Given the description of an element on the screen output the (x, y) to click on. 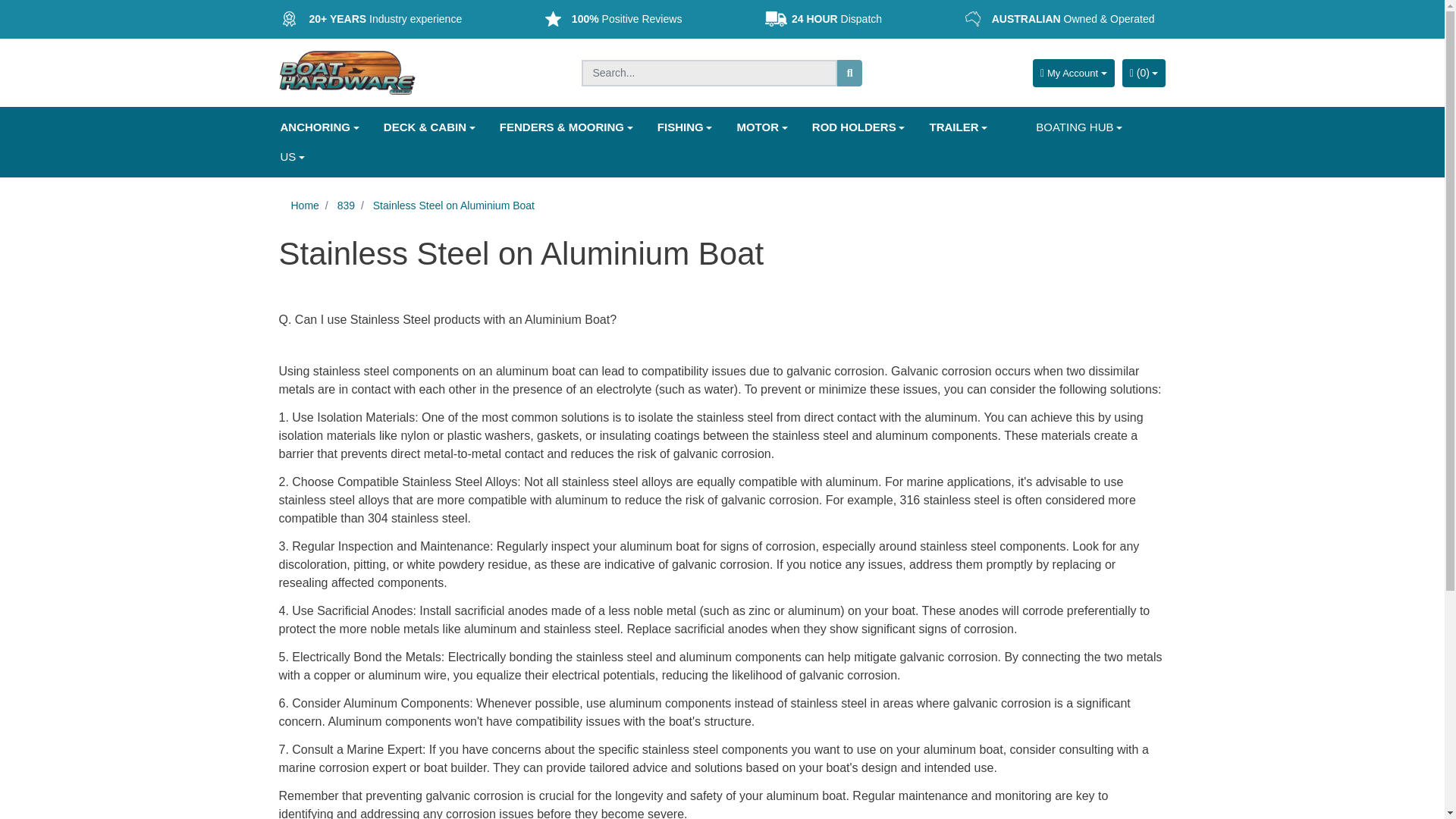
My Account (1073, 72)
ANCHORING (319, 127)
Search (850, 72)
Boat Hardware (346, 71)
